Given the description of an element on the screen output the (x, y) to click on. 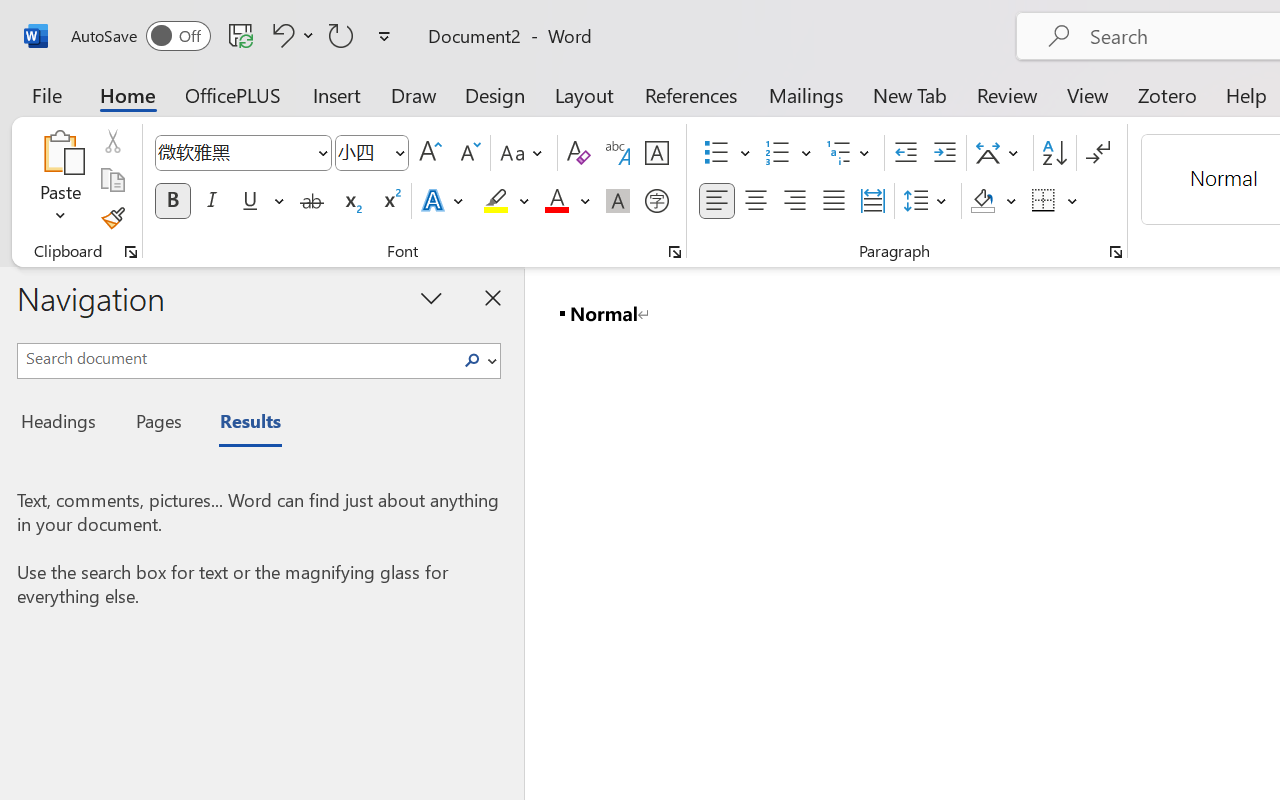
Format Painter (112, 218)
Text Highlight Color Yellow (495, 201)
Bullets (716, 153)
Multilevel List (850, 153)
Decrease Indent (906, 153)
Bold (172, 201)
Numbering (788, 153)
Draw (413, 94)
Customize Quick Access Toolbar (384, 35)
